Given the description of an element on the screen output the (x, y) to click on. 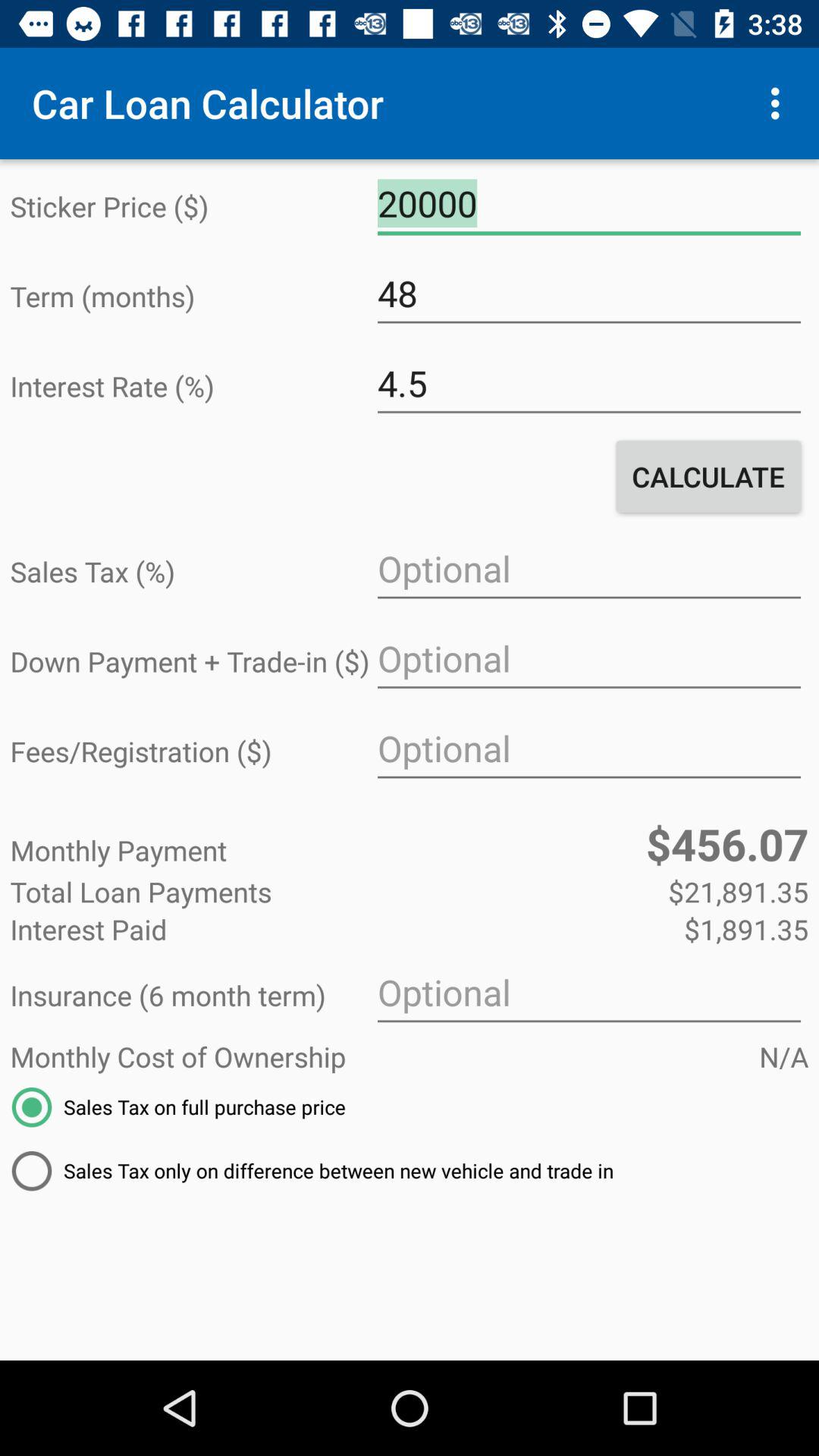
fees/registration (588, 748)
